Given the description of an element on the screen output the (x, y) to click on. 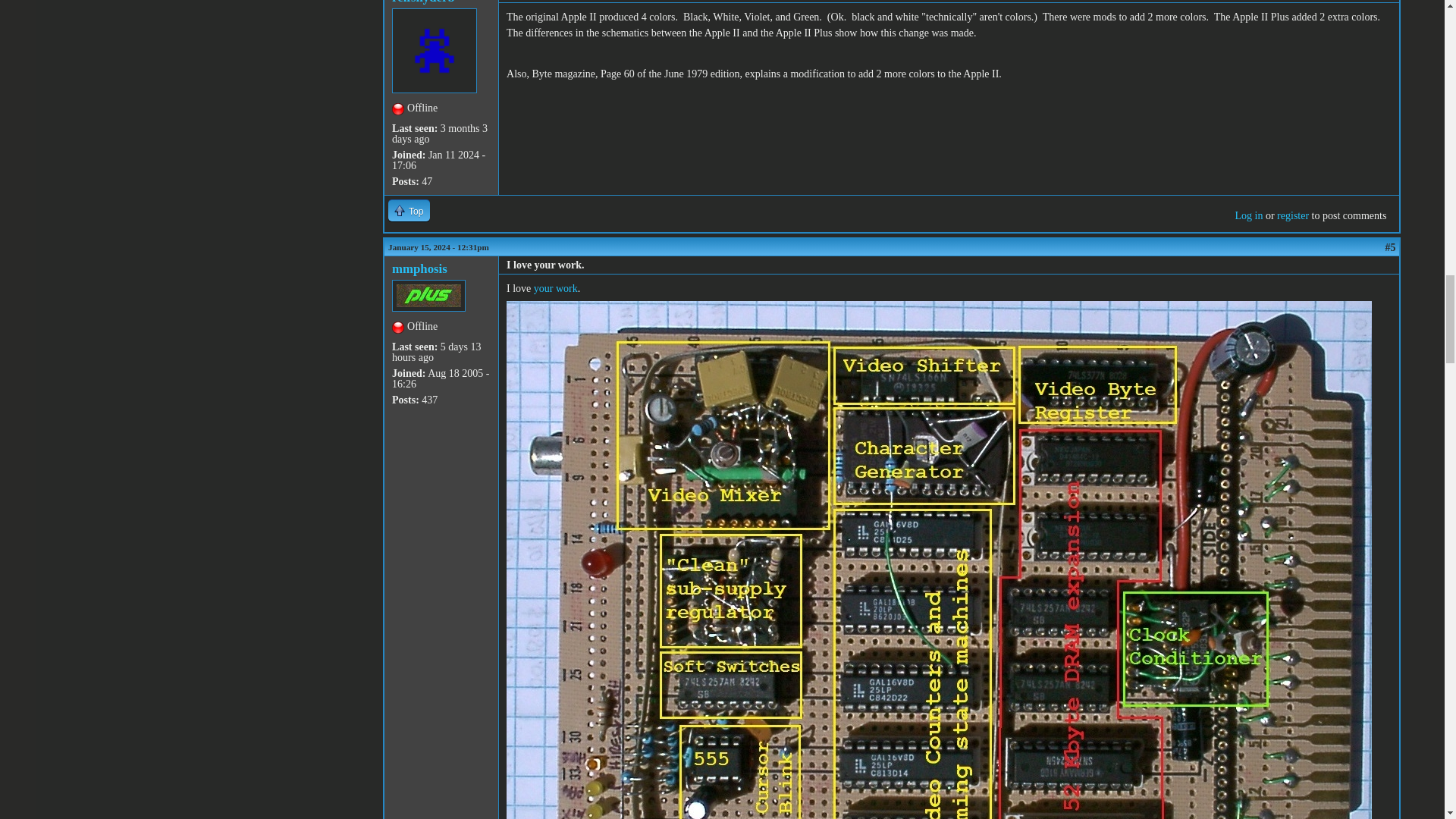
Log in (1248, 215)
Top (408, 210)
reifsnyderb (422, 2)
View user profile. (422, 2)
Jump to top of page (408, 210)
mmphosis's picture (428, 296)
View user profile. (418, 268)
reifsnyderb's picture (434, 50)
